Given the description of an element on the screen output the (x, y) to click on. 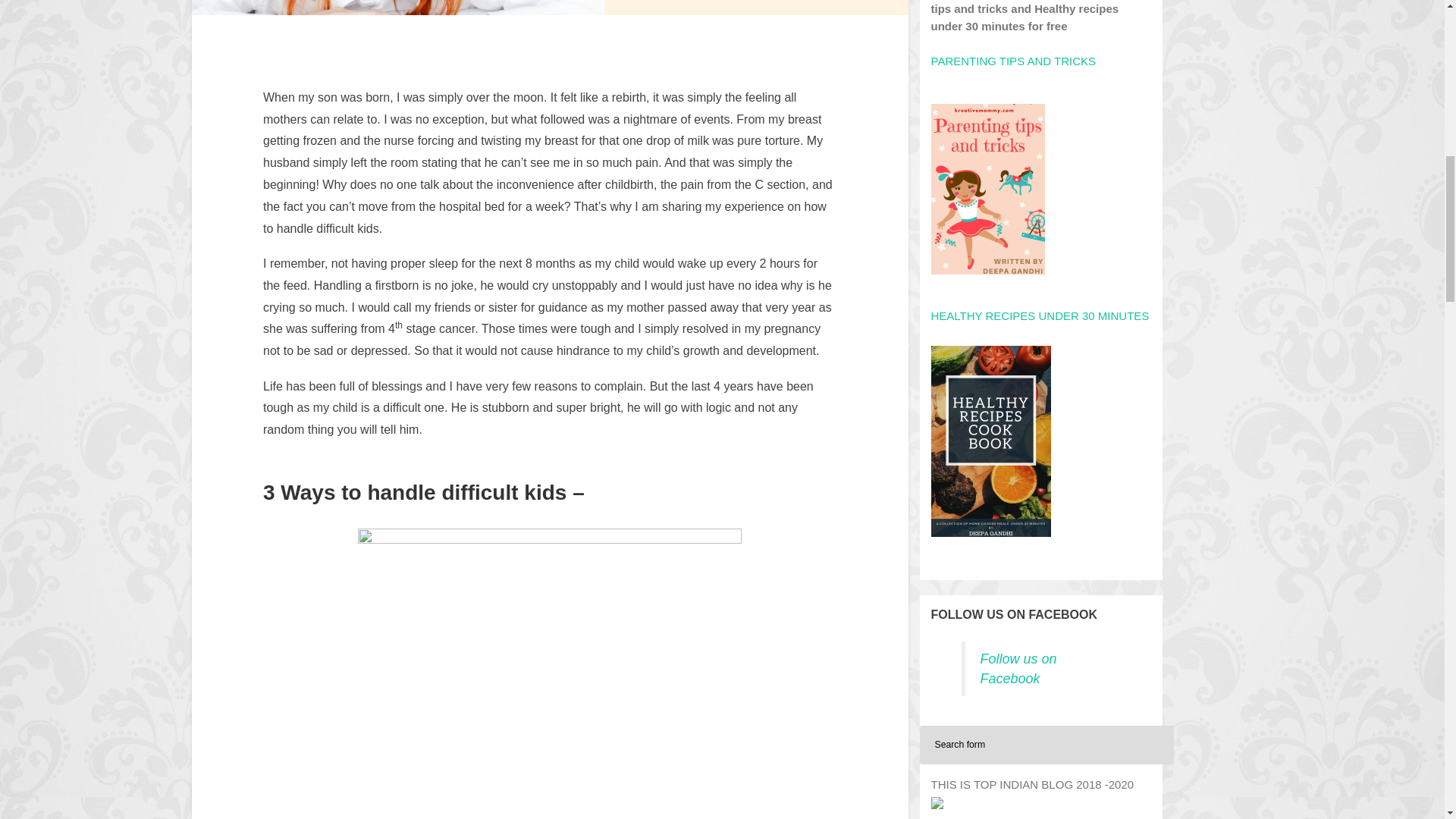
Search (1133, 745)
Search (1133, 745)
